Given the description of an element on the screen output the (x, y) to click on. 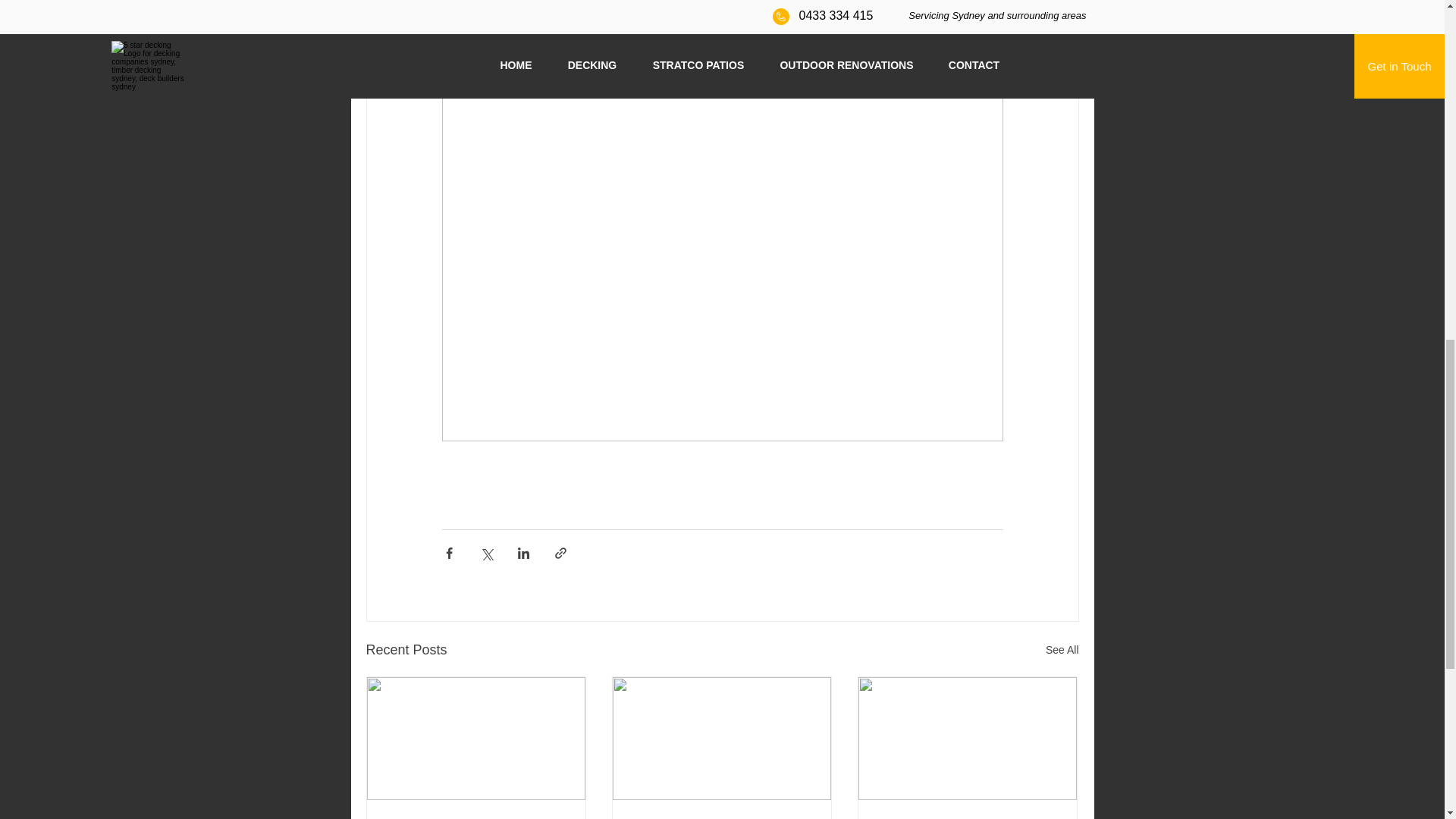
See All (1061, 649)
